Given the description of an element on the screen output the (x, y) to click on. 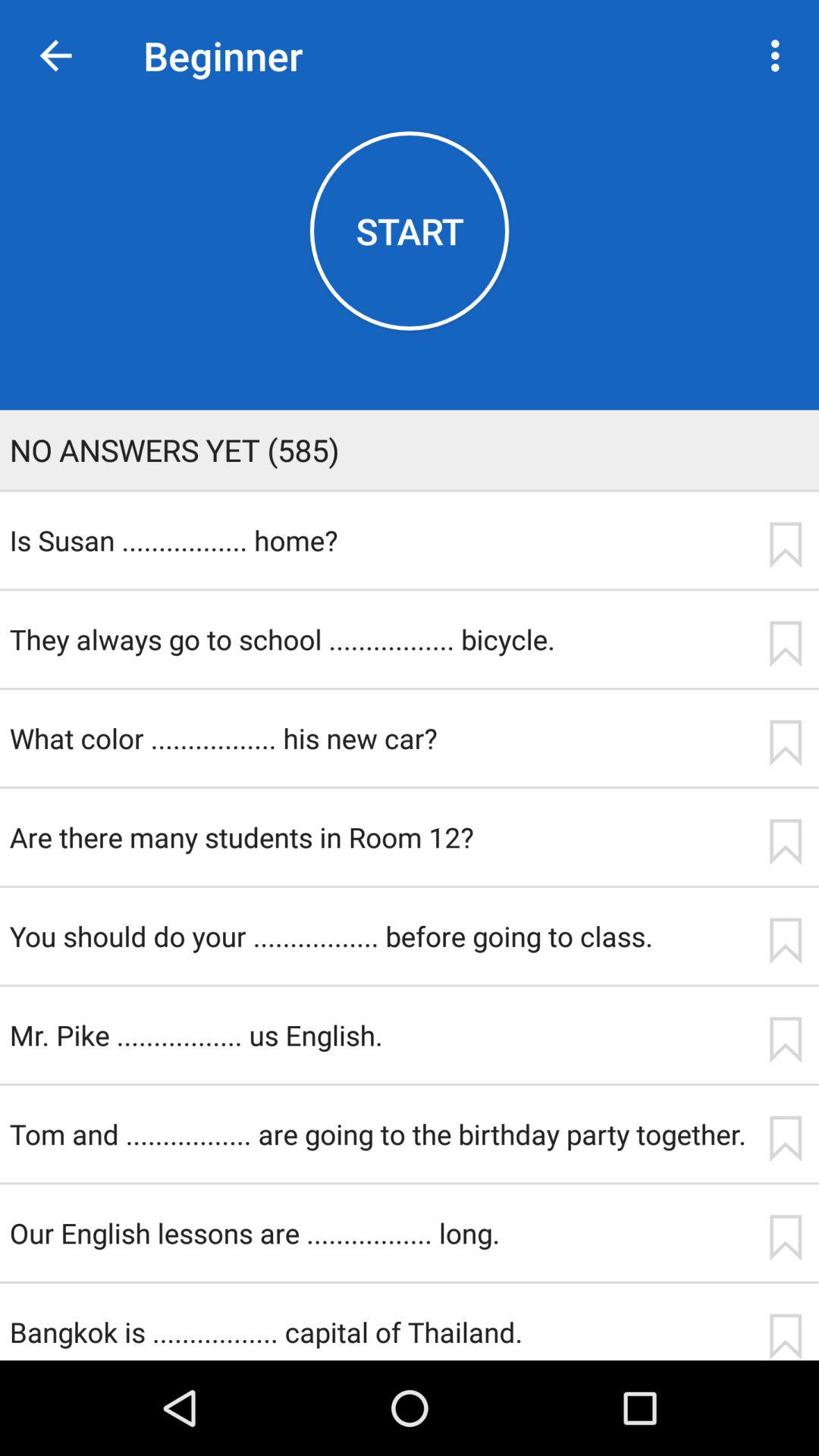
bookmark the quiz question (784, 1336)
